Given the description of an element on the screen output the (x, y) to click on. 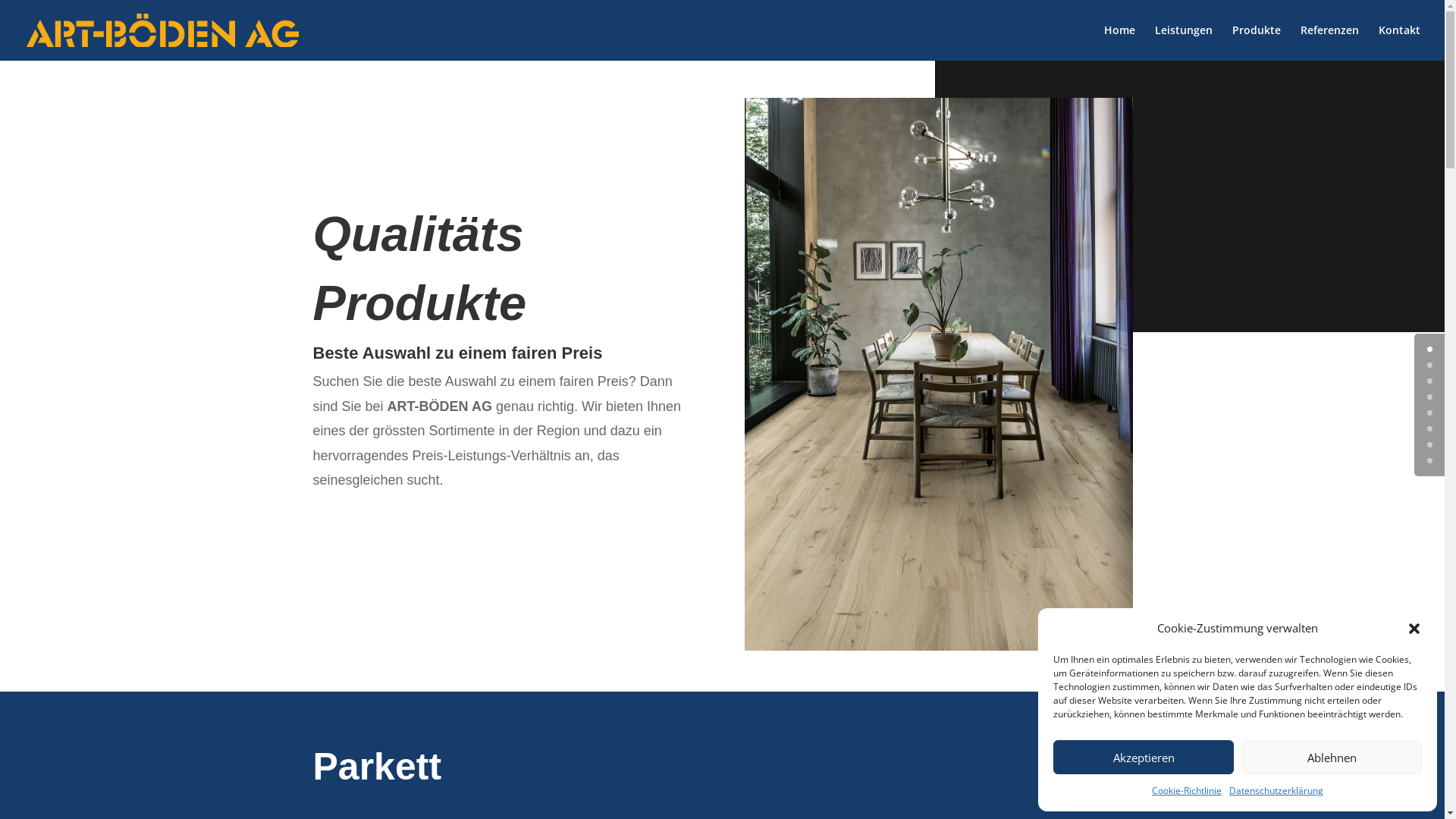
20_Negro_3c Element type: hover (938, 373)
6 Element type: text (1429, 444)
3 Element type: text (1429, 396)
Leistungen Element type: text (1183, 42)
0 Element type: text (1429, 348)
1 Element type: text (1429, 364)
Akzeptieren Element type: text (1143, 757)
Home Element type: text (1119, 42)
Kontakt Element type: text (1399, 42)
7 Element type: text (1429, 460)
Ablehnen Element type: text (1331, 757)
Cookie-Richtlinie Element type: text (1186, 790)
2 Element type: text (1429, 380)
Referenzen Element type: text (1329, 42)
4 Element type: text (1429, 412)
5 Element type: text (1429, 428)
Produkte Element type: text (1256, 42)
